Given the description of an element on the screen output the (x, y) to click on. 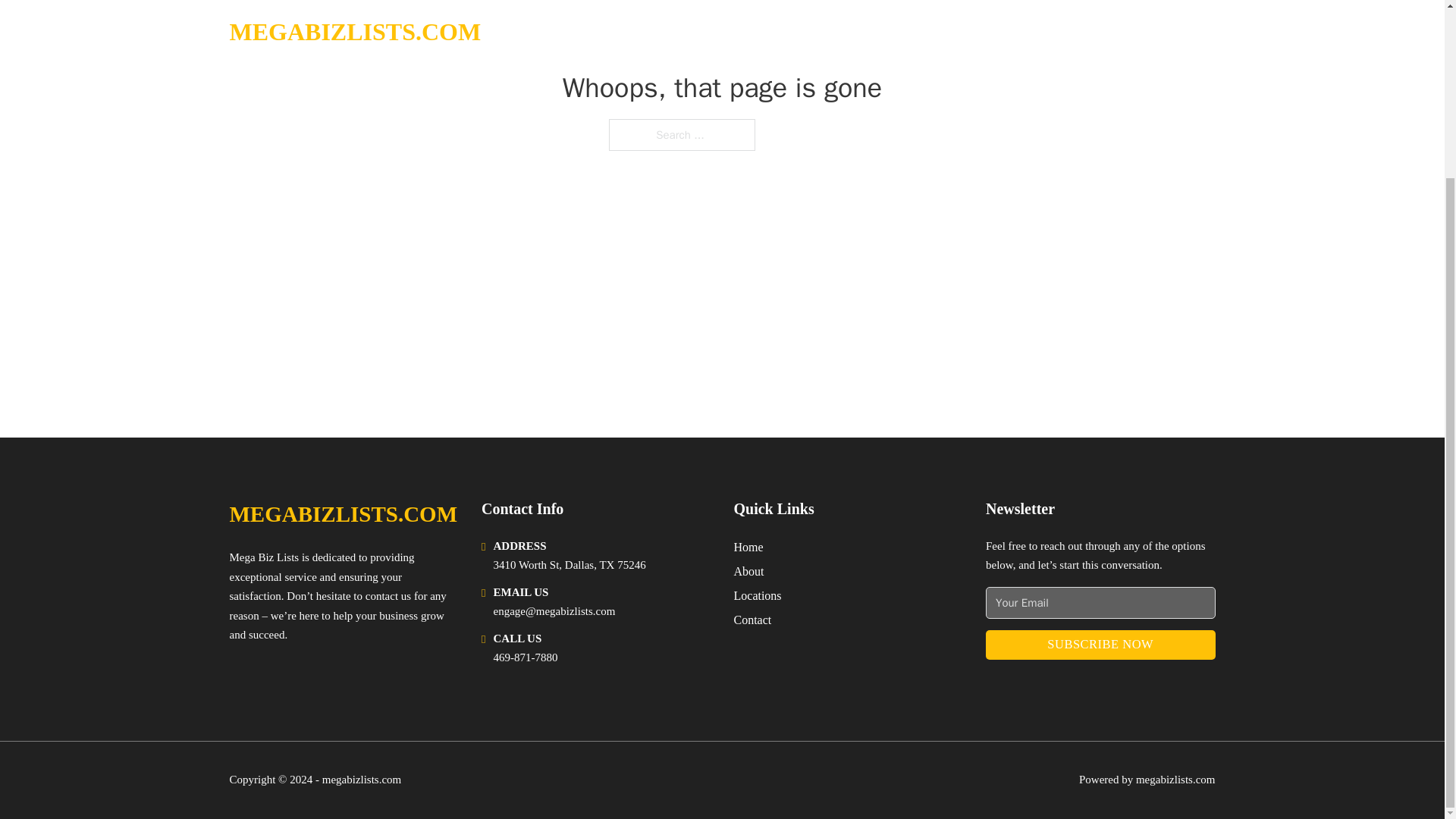
About (748, 571)
Locations (757, 595)
469-871-7880 (525, 657)
MEGABIZLISTS.COM (342, 514)
Contact (752, 619)
SUBSCRIBE NOW (1100, 644)
Home (747, 547)
